Given the description of an element on the screen output the (x, y) to click on. 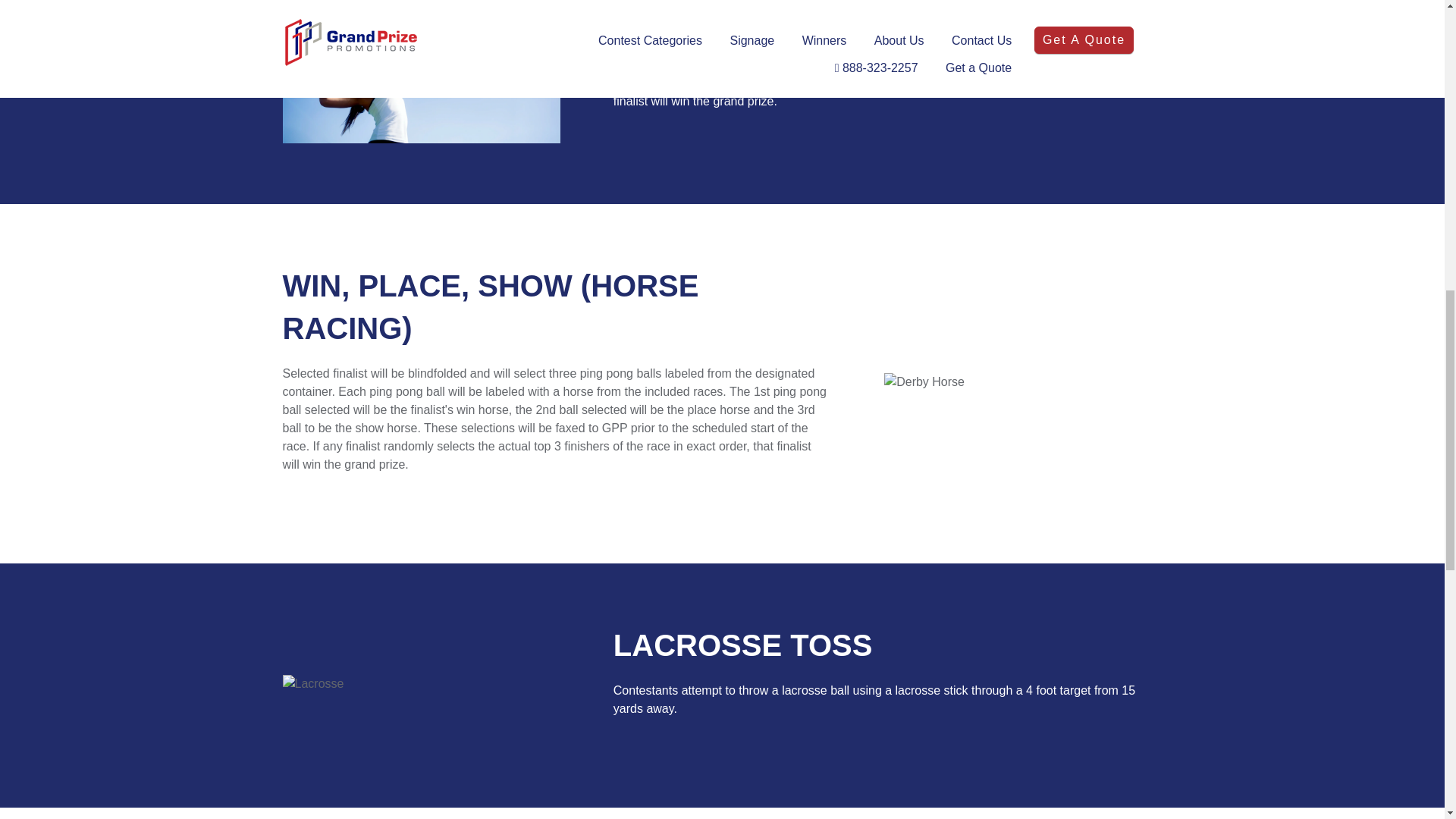
Lacrosse (312, 683)
Derby Horse (923, 382)
Tennis Serve (420, 71)
